Given the description of an element on the screen output the (x, y) to click on. 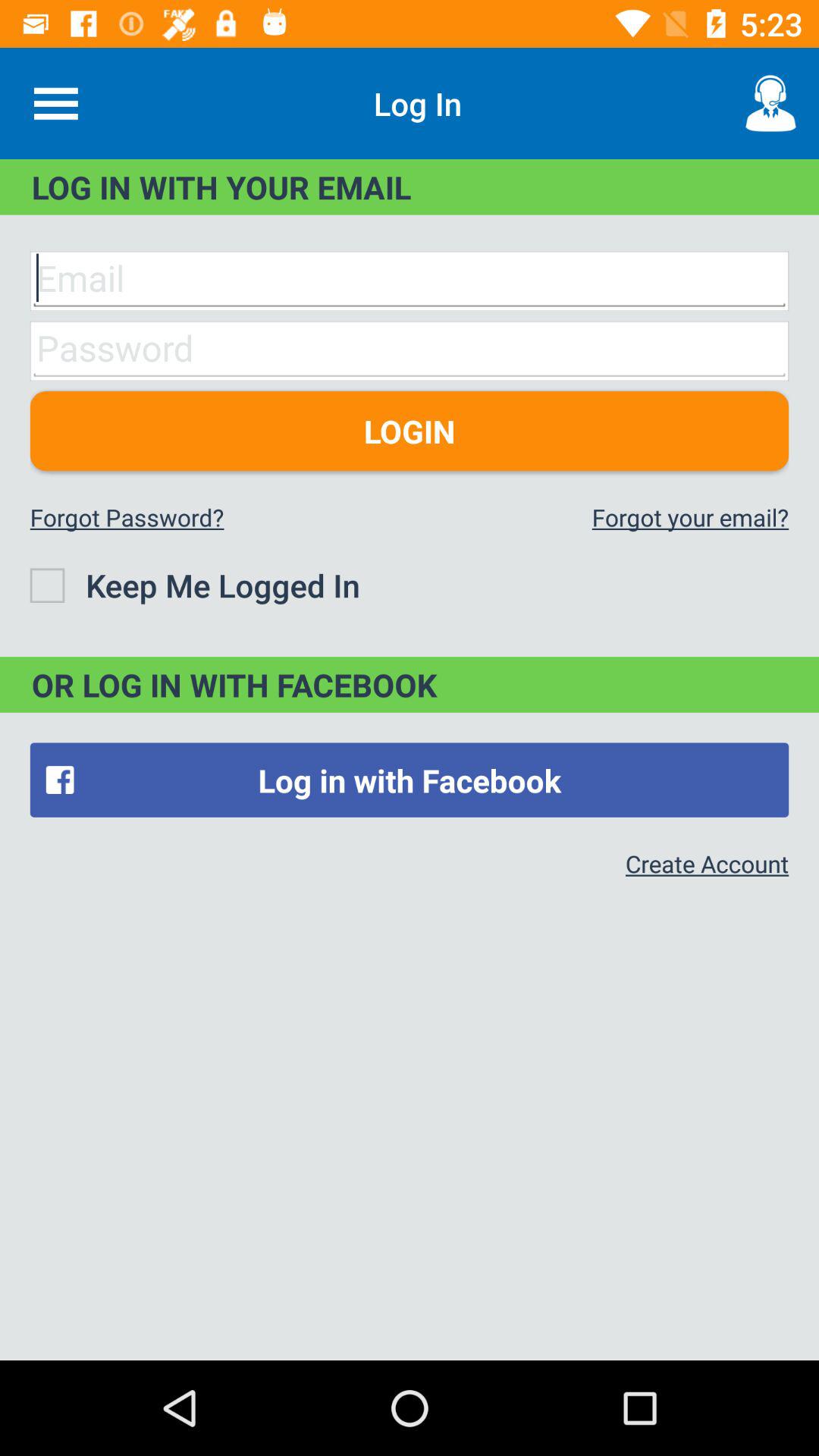
launch the create account icon (706, 863)
